Given the description of an element on the screen output the (x, y) to click on. 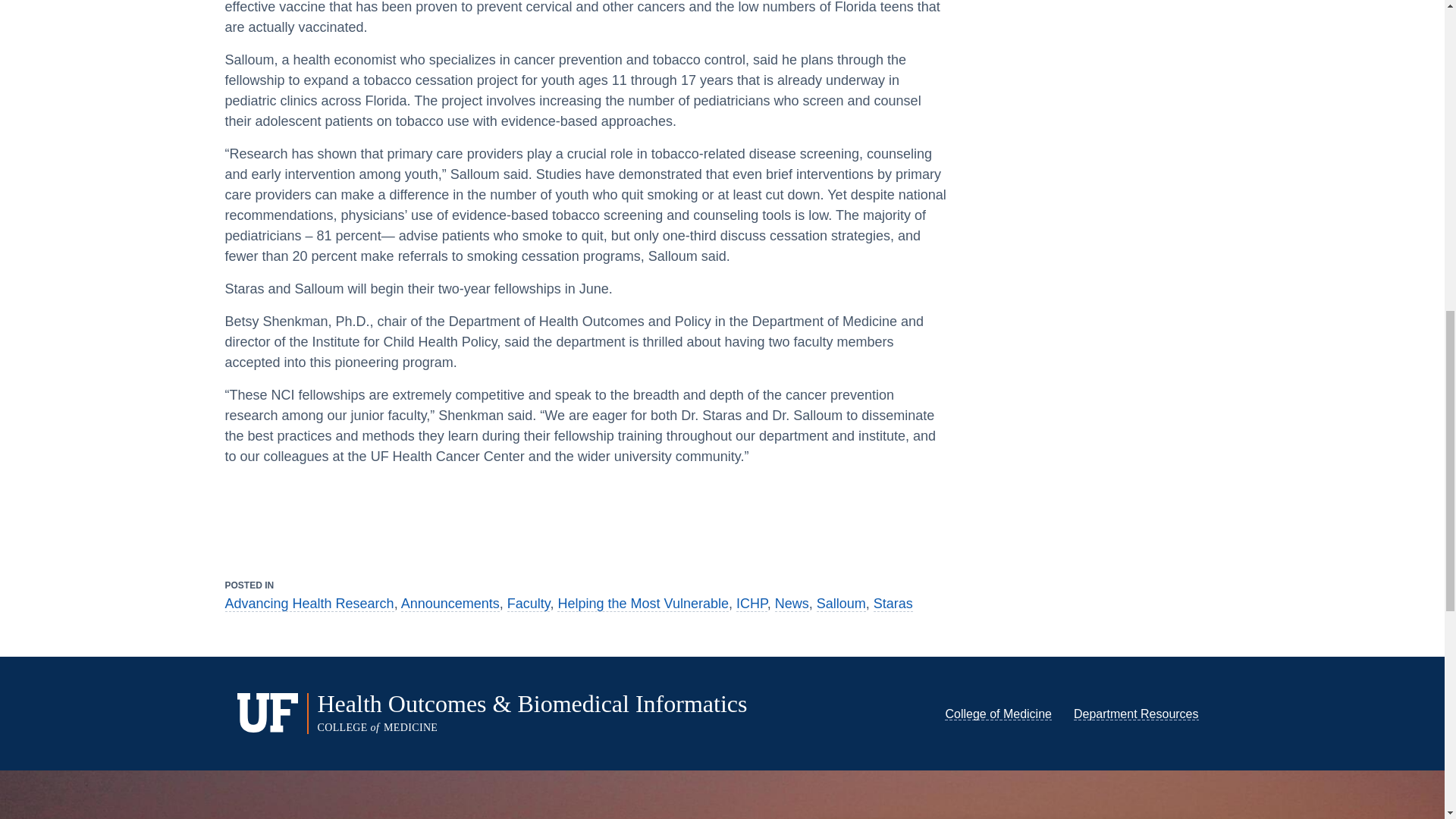
Department Resources (1136, 713)
College of Medicine (997, 713)
